Given the description of an element on the screen output the (x, y) to click on. 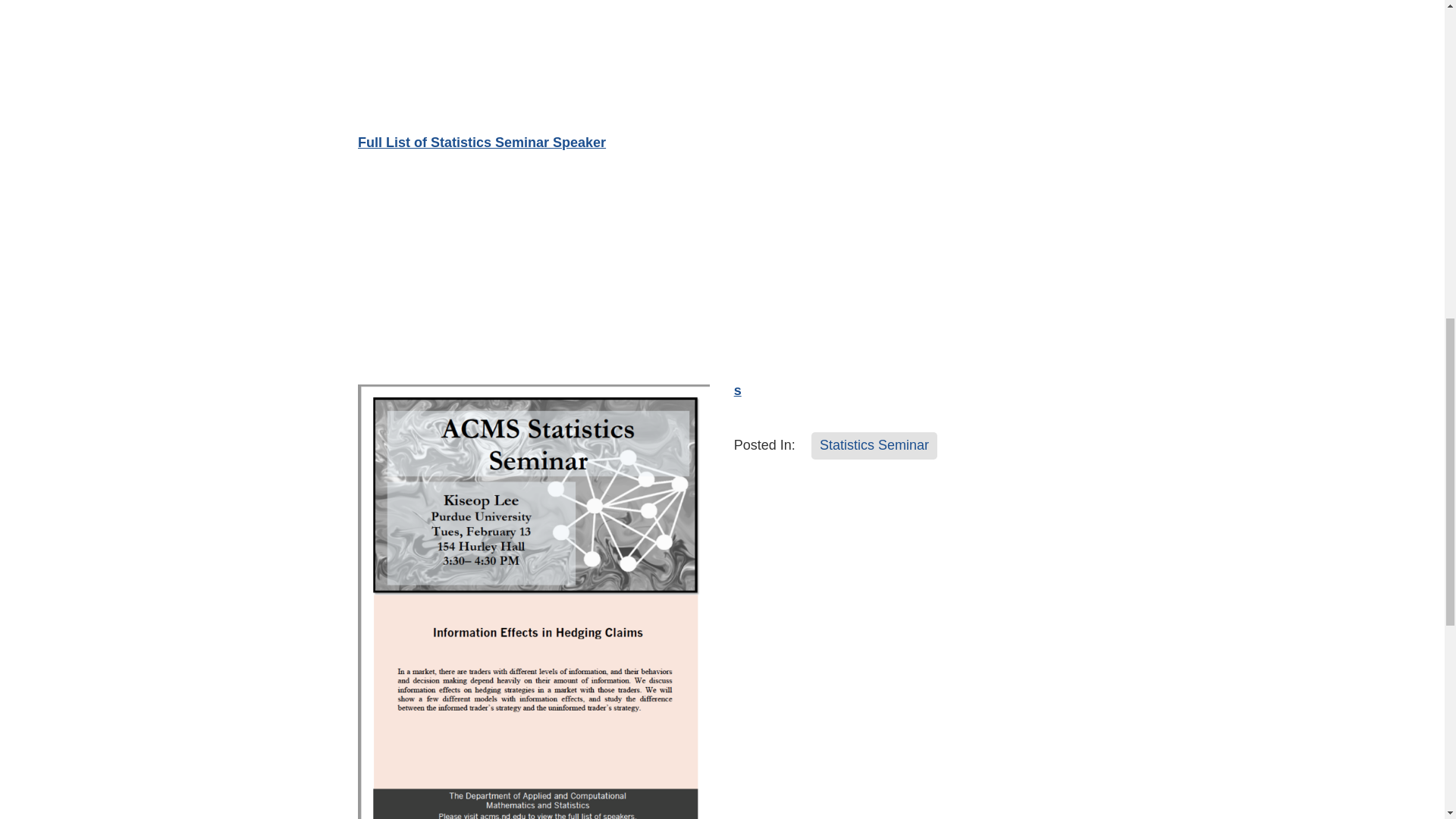
s (737, 390)
Statistics Seminar (873, 445)
Full List of Statistics Seminar Speaker (481, 142)
